Given the description of an element on the screen output the (x, y) to click on. 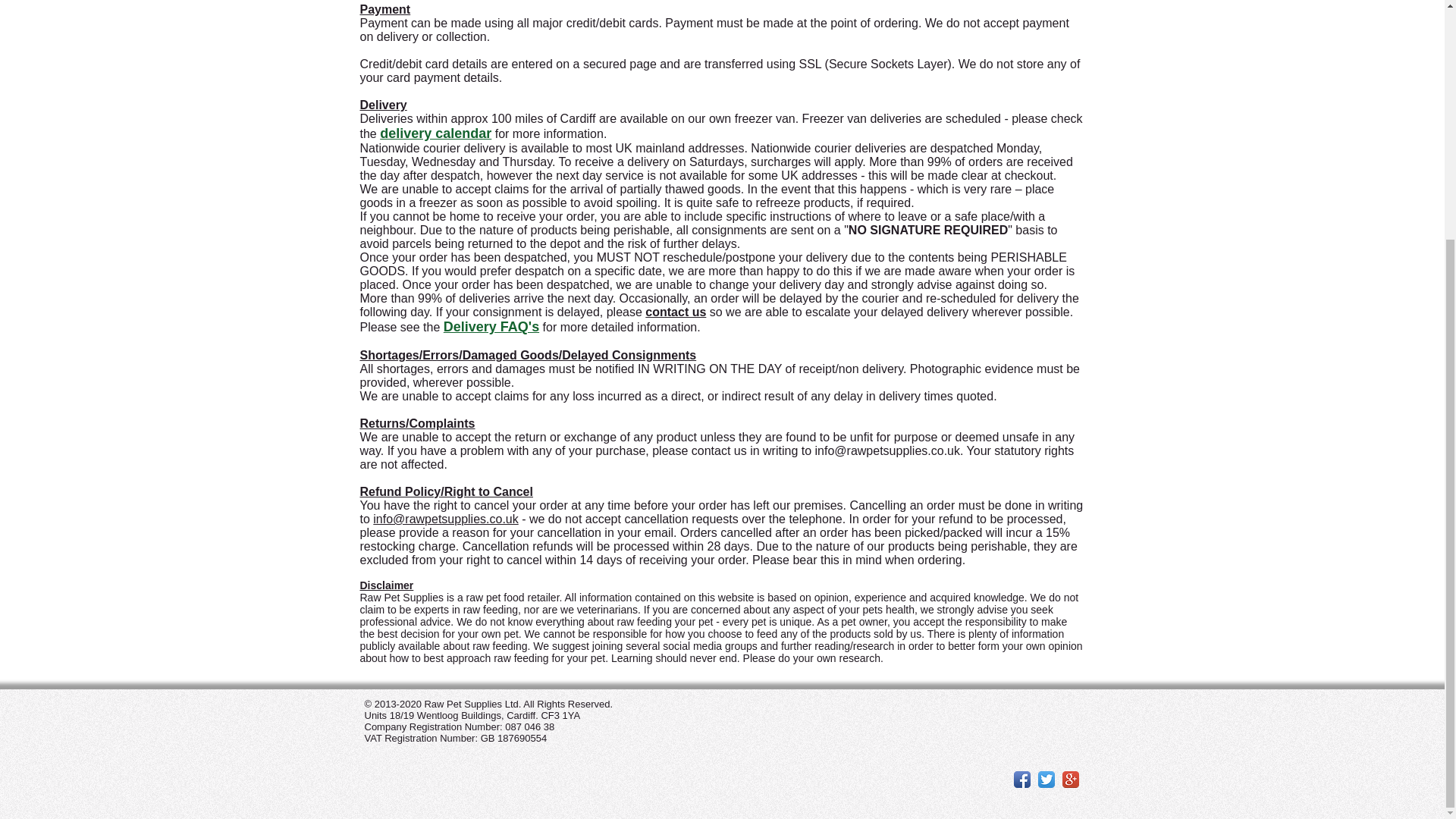
Delivery FAQ's (491, 327)
delivery calendar (436, 133)
contact us (675, 311)
